Given the description of an element on the screen output the (x, y) to click on. 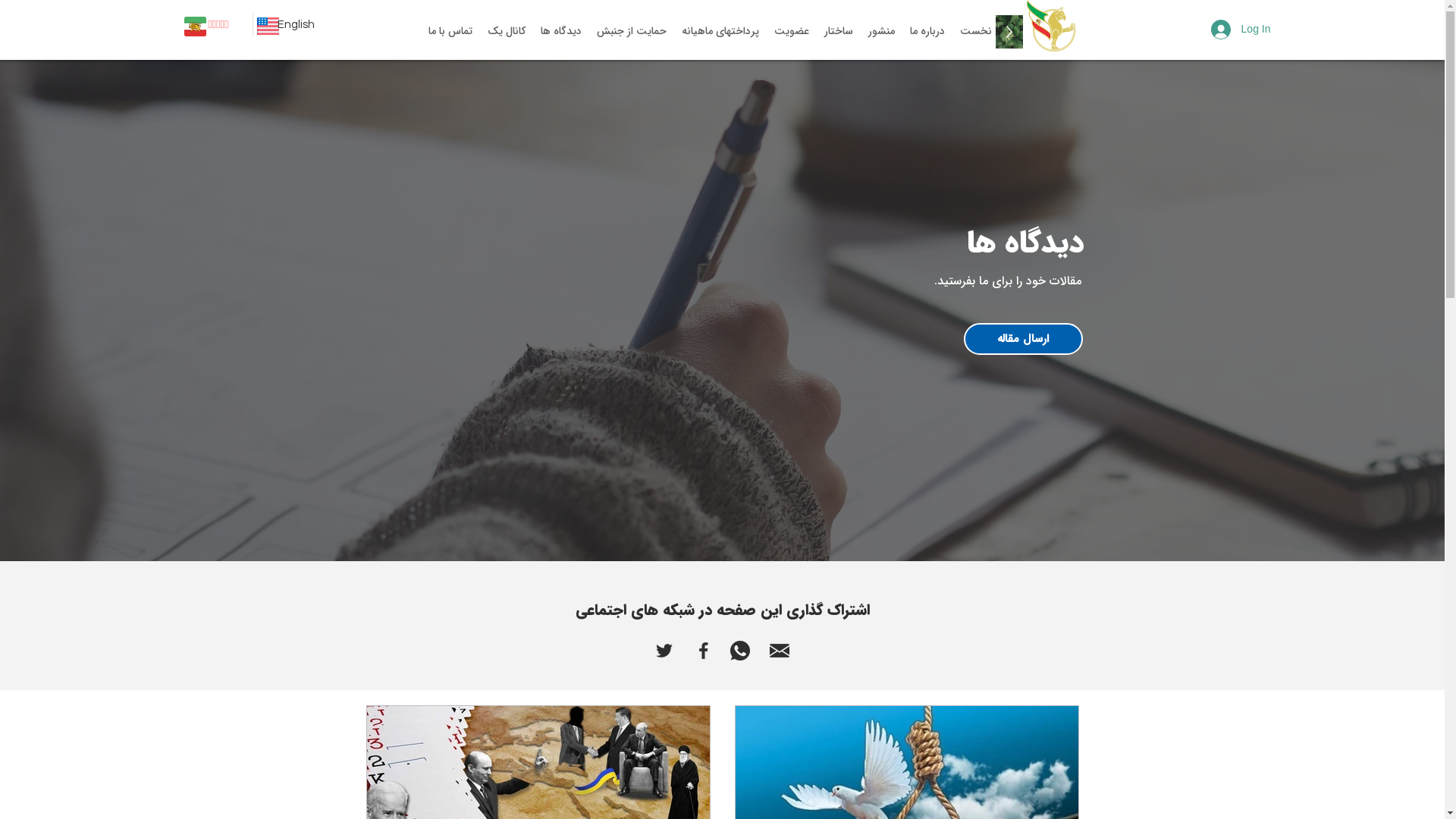
English Element type: text (295, 23)
Log In Element type: text (1240, 29)
